Given the description of an element on the screen output the (x, y) to click on. 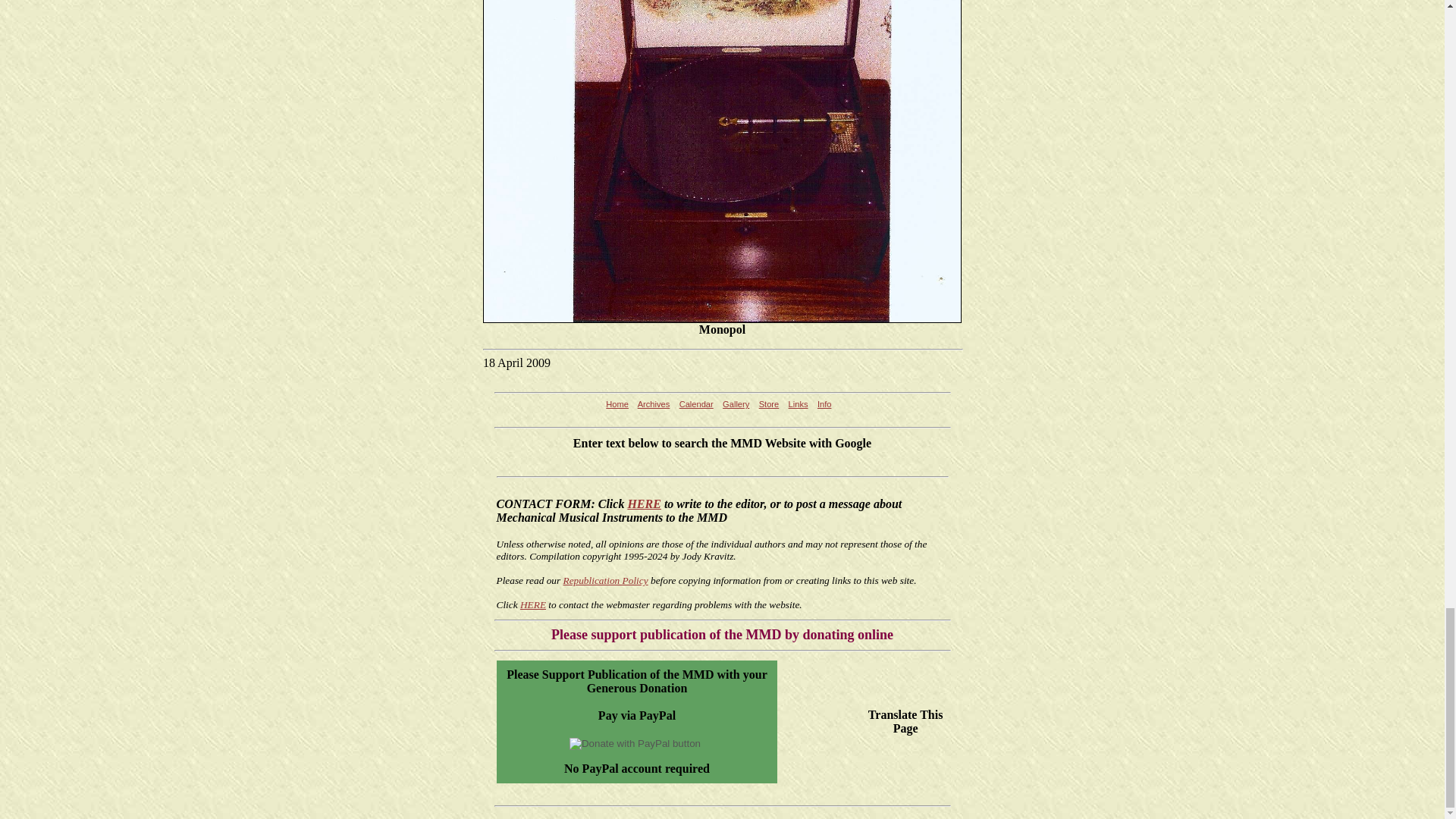
Calendar (696, 403)
Gallery (735, 403)
Archives (653, 403)
HERE (644, 503)
Info (823, 403)
Links (798, 403)
HERE (532, 604)
Republication Policy (604, 580)
PayPal - The safer, easier way to pay online! (634, 743)
Home (616, 403)
Store (768, 403)
